Given the description of an element on the screen output the (x, y) to click on. 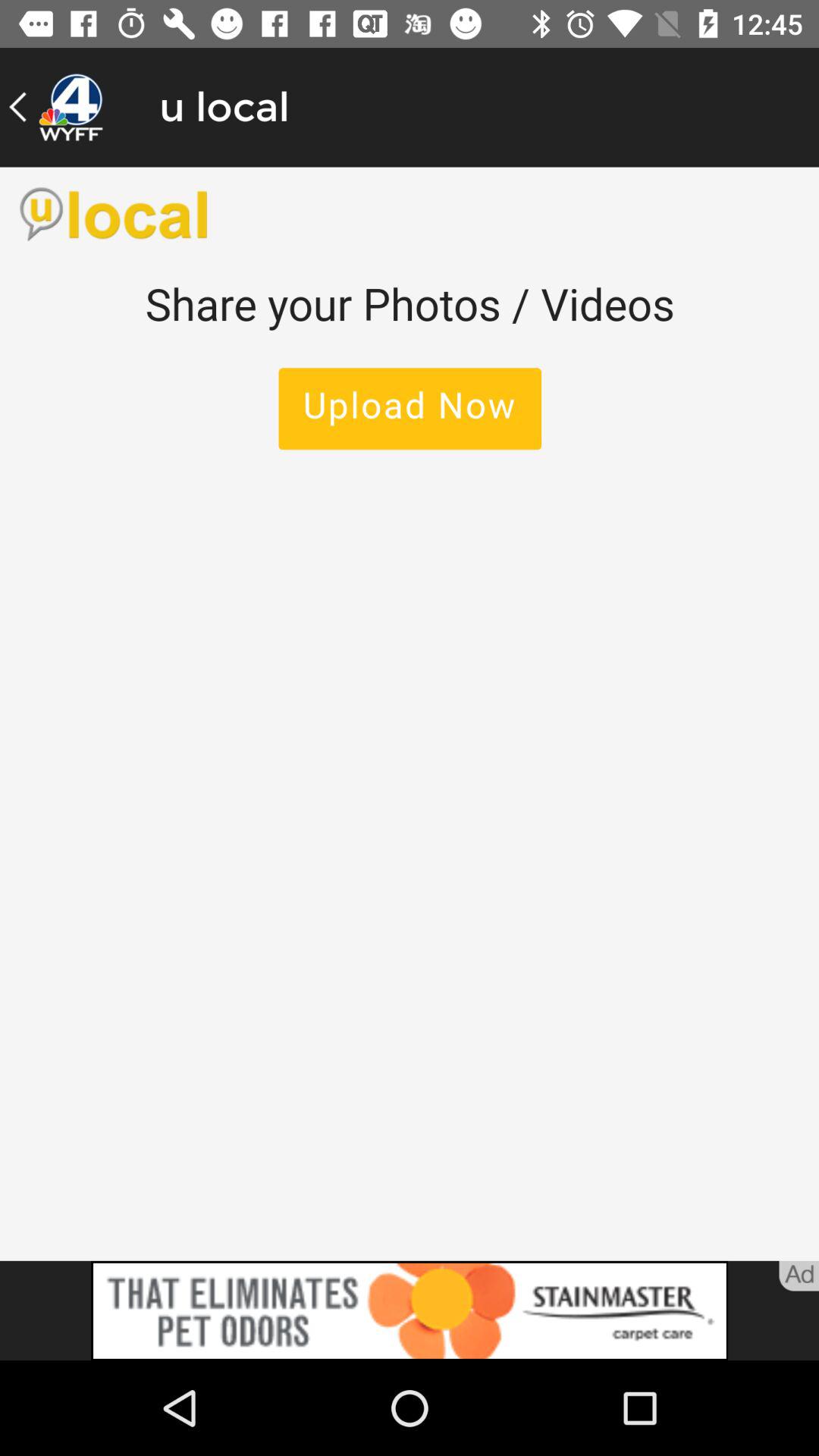
main content window (409, 713)
